Given the description of an element on the screen output the (x, y) to click on. 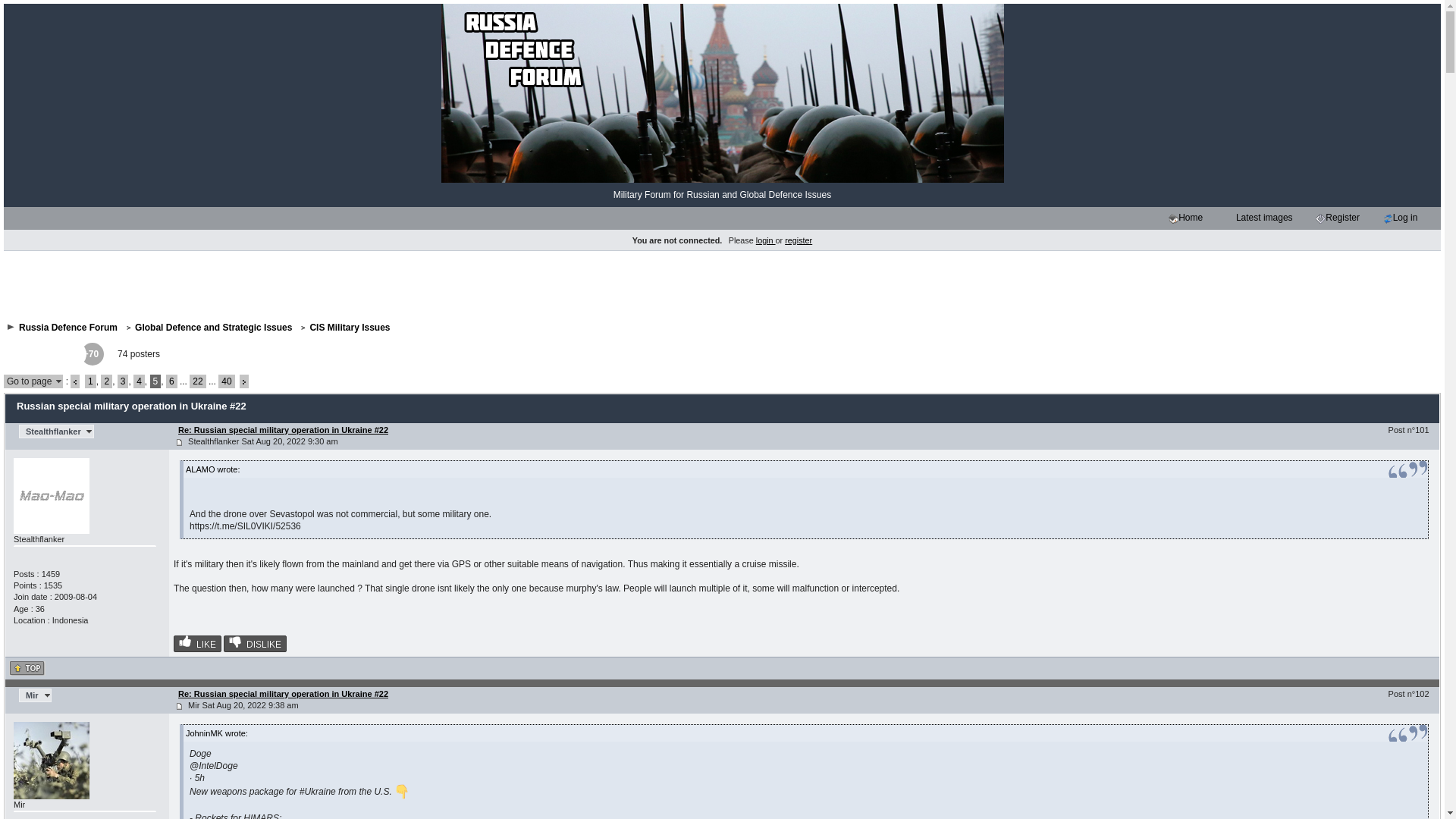
3 (123, 381)
Register (1320, 218)
Log in (1404, 218)
Post (178, 441)
Home (1173, 218)
40 (226, 381)
psg (32, 354)
6 (171, 381)
Log in (1388, 218)
Mir (34, 694)
DISLIKE (255, 643)
login (765, 239)
lancelot (20, 354)
Latest images (1230, 218)
